Given the description of an element on the screen output the (x, y) to click on. 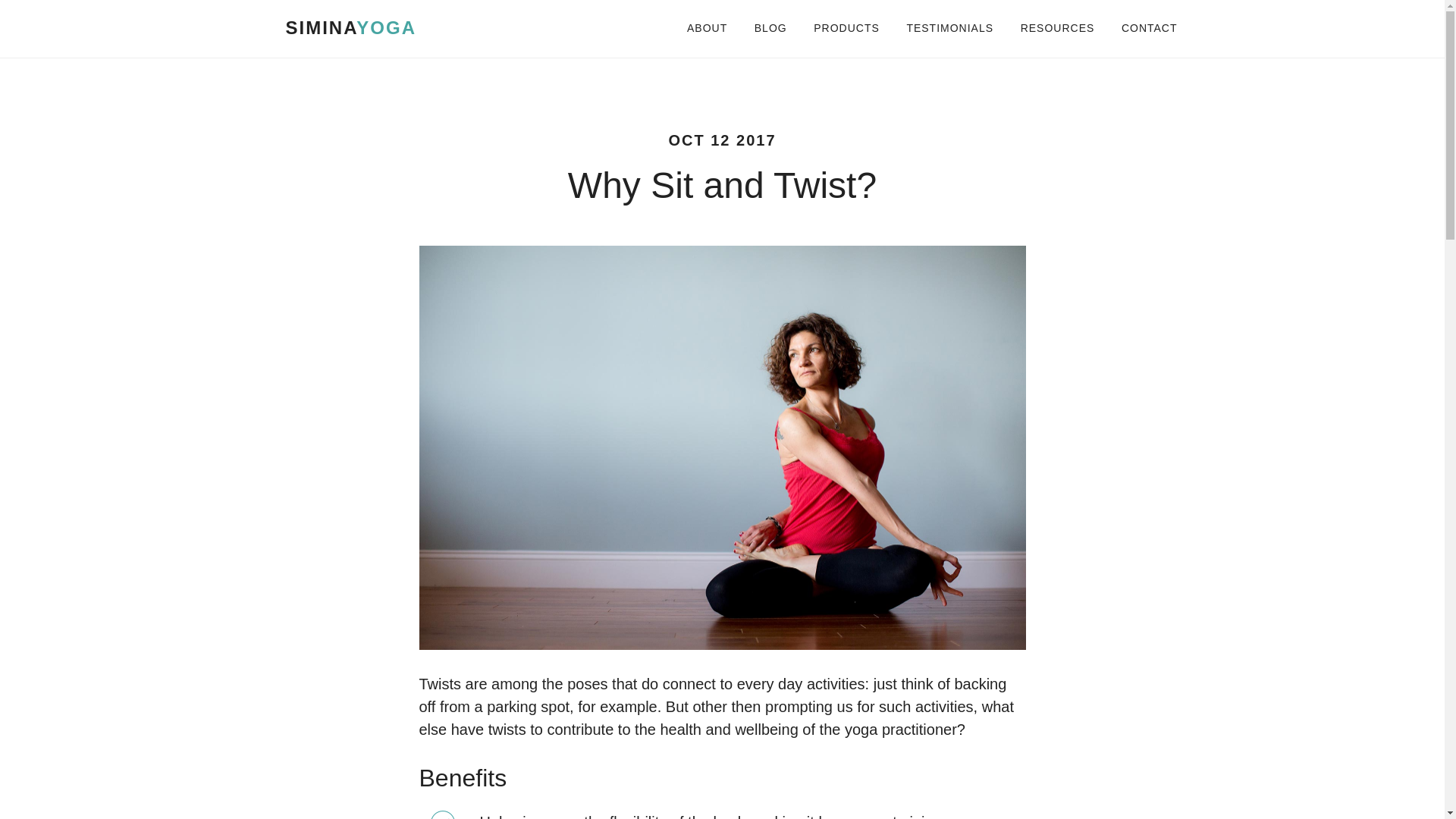
siminayoga (349, 27)
RESOURCES (1057, 28)
CONTACT (1143, 28)
BLOG (769, 28)
TESTIMONIALS (949, 28)
ABOUT (706, 28)
PRODUCTS (846, 28)
SIMINAYOGA (349, 27)
